Given the description of an element on the screen output the (x, y) to click on. 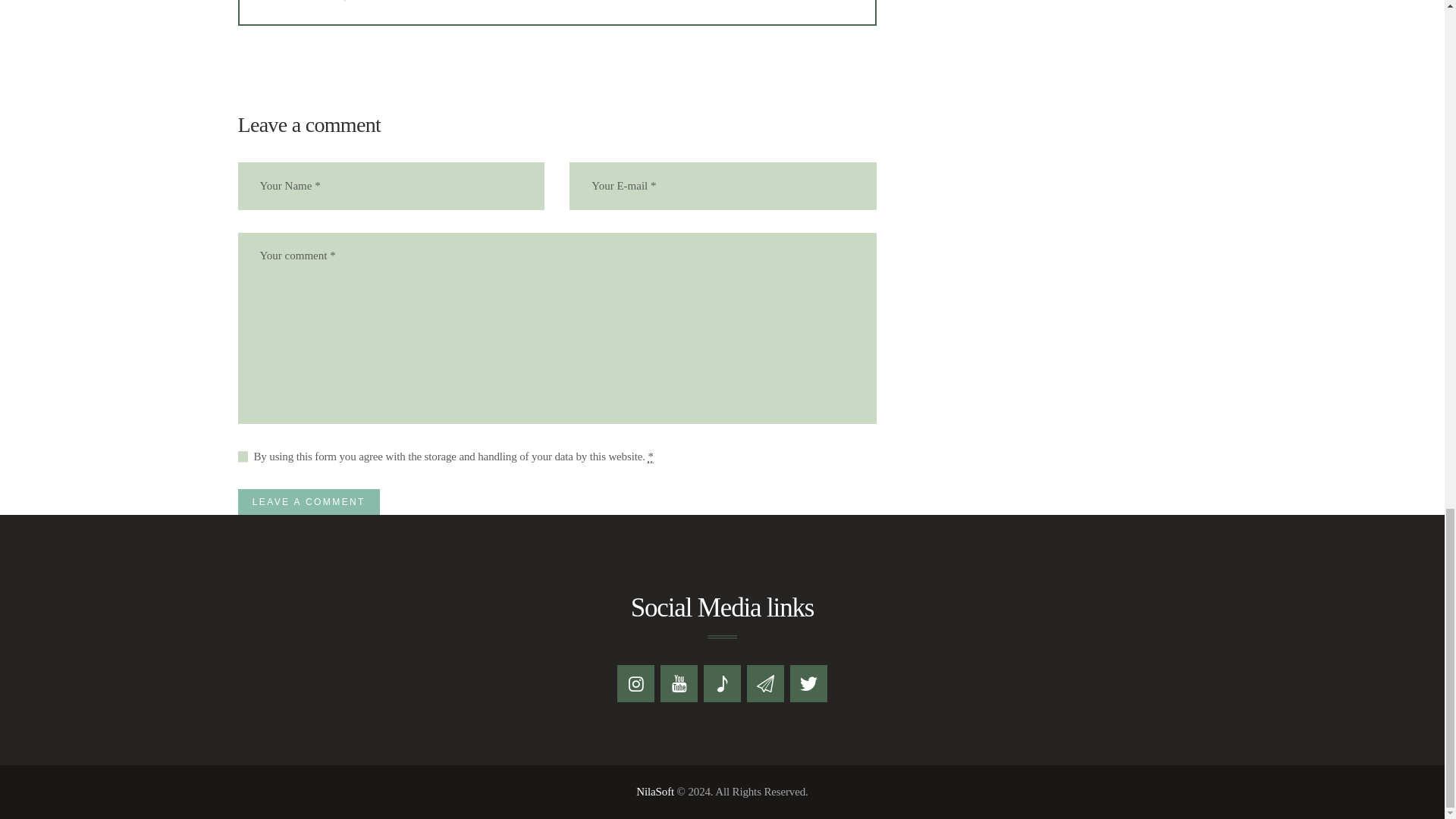
Leave a comment (309, 501)
Leave a comment (309, 501)
